Given the description of an element on the screen output the (x, y) to click on. 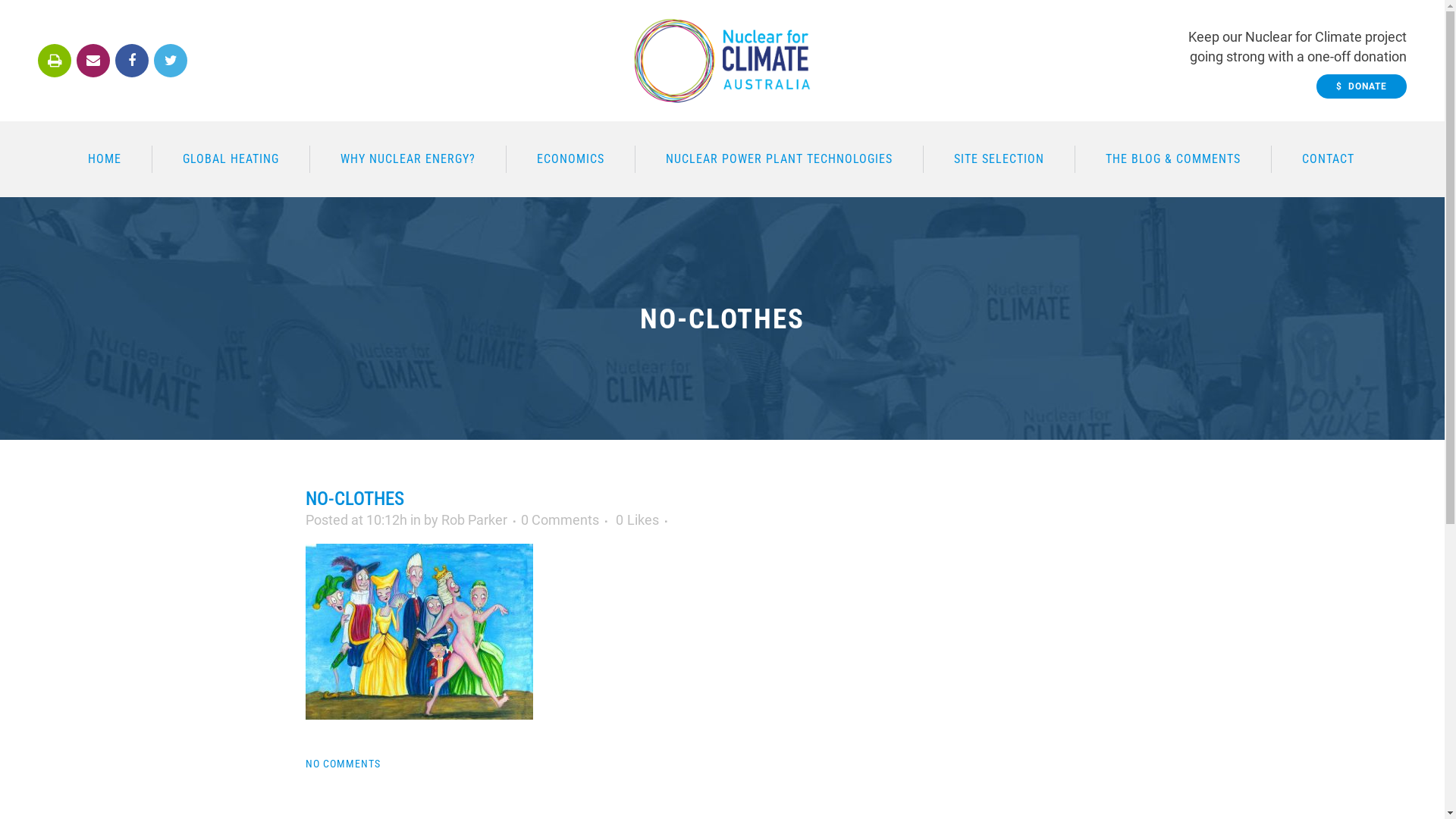
HOME Element type: text (104, 158)
SITE SELECTION Element type: text (999, 158)
0 Likes Element type: text (636, 519)
$  DONATE Element type: text (1361, 86)
Rob Parker Element type: text (474, 519)
NUCLEAR POWER PLANT TECHNOLOGIES Element type: text (779, 158)
THE BLOG & COMMENTS Element type: text (1173, 158)
WHY NUCLEAR ENERGY? Element type: text (407, 158)
0 Comments Element type: text (559, 519)
ECONOMICS Element type: text (570, 158)
GLOBAL HEATING Element type: text (230, 158)
CONTACT Element type: text (1326, 158)
